Given the description of an element on the screen output the (x, y) to click on. 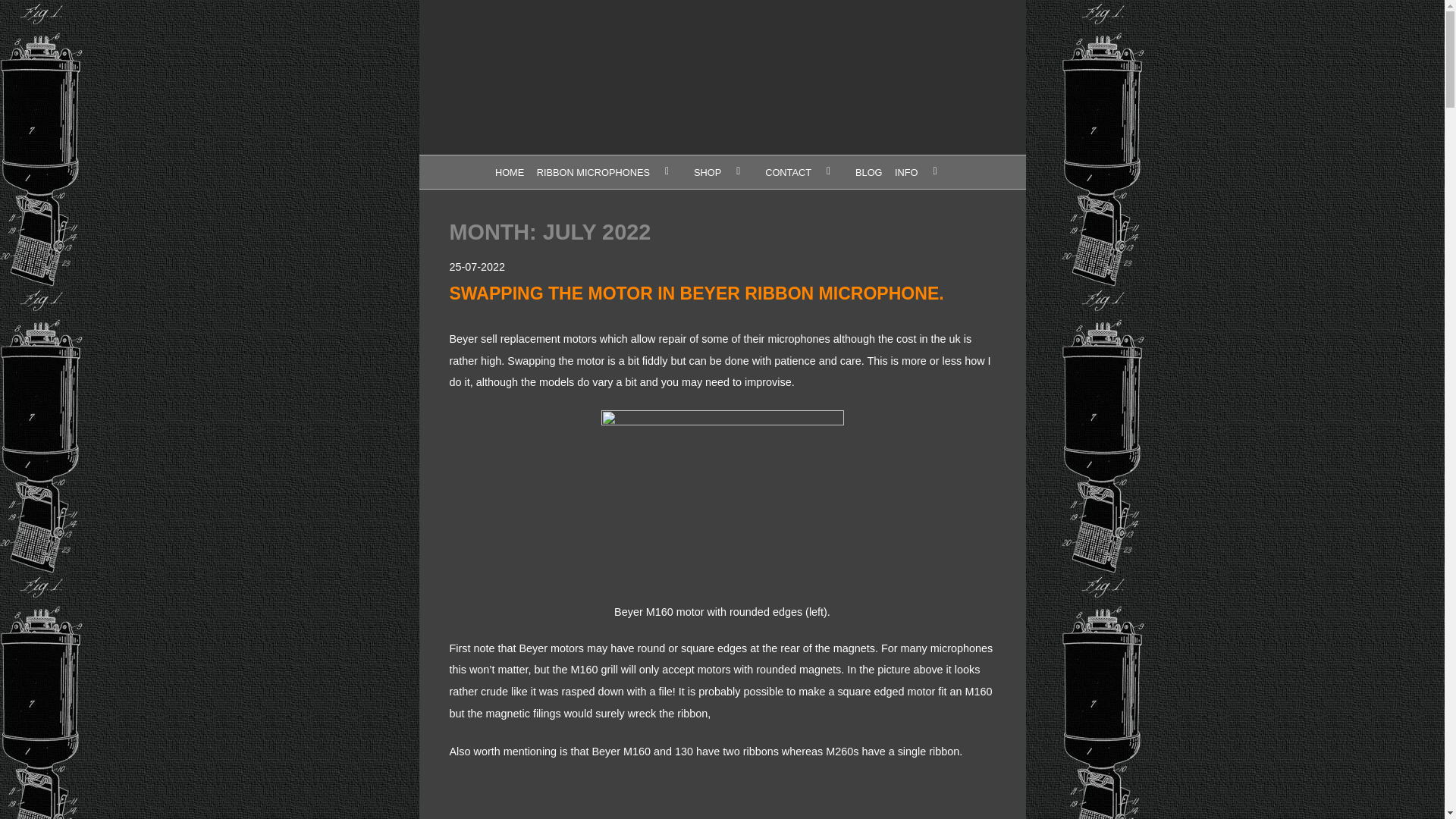
BLOG (868, 171)
expand child menu (934, 170)
RIBBON MICROPHONES (608, 171)
SWAPPING THE MOTOR IN BEYER RIBBON MICROPHONE. (695, 293)
expand child menu (666, 170)
INFO (922, 171)
expand child menu (738, 170)
CONTACT (803, 171)
SHOP (723, 171)
XAUDIA (503, 215)
HOME (508, 171)
expand child menu (828, 170)
XAUDIA (503, 79)
